Given the description of an element on the screen output the (x, y) to click on. 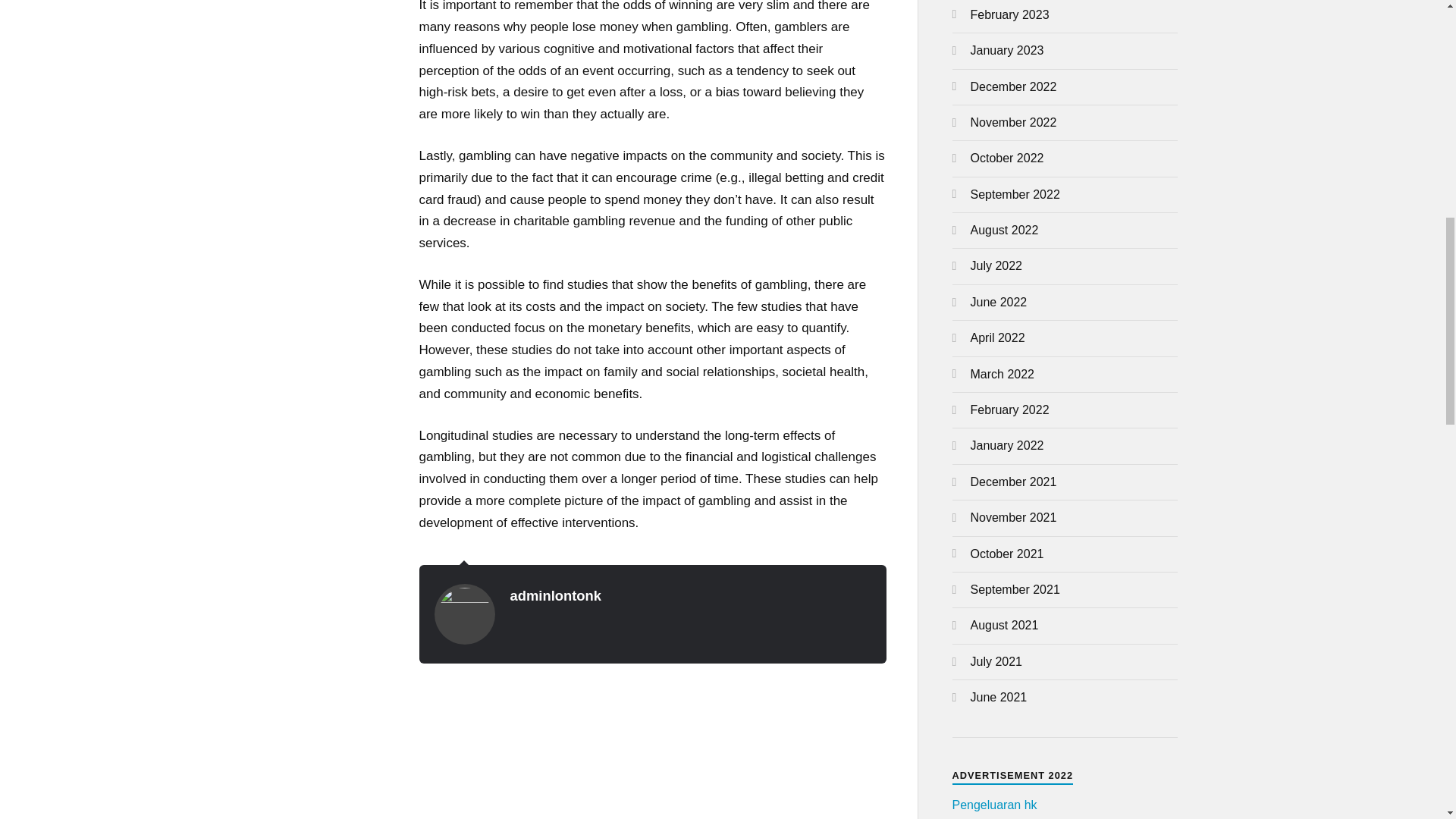
November 2022 (1014, 122)
January 2023 (1007, 50)
February 2023 (1010, 14)
adminlontonk (555, 595)
December 2022 (1014, 86)
October 2022 (1007, 157)
